Given the description of an element on the screen output the (x, y) to click on. 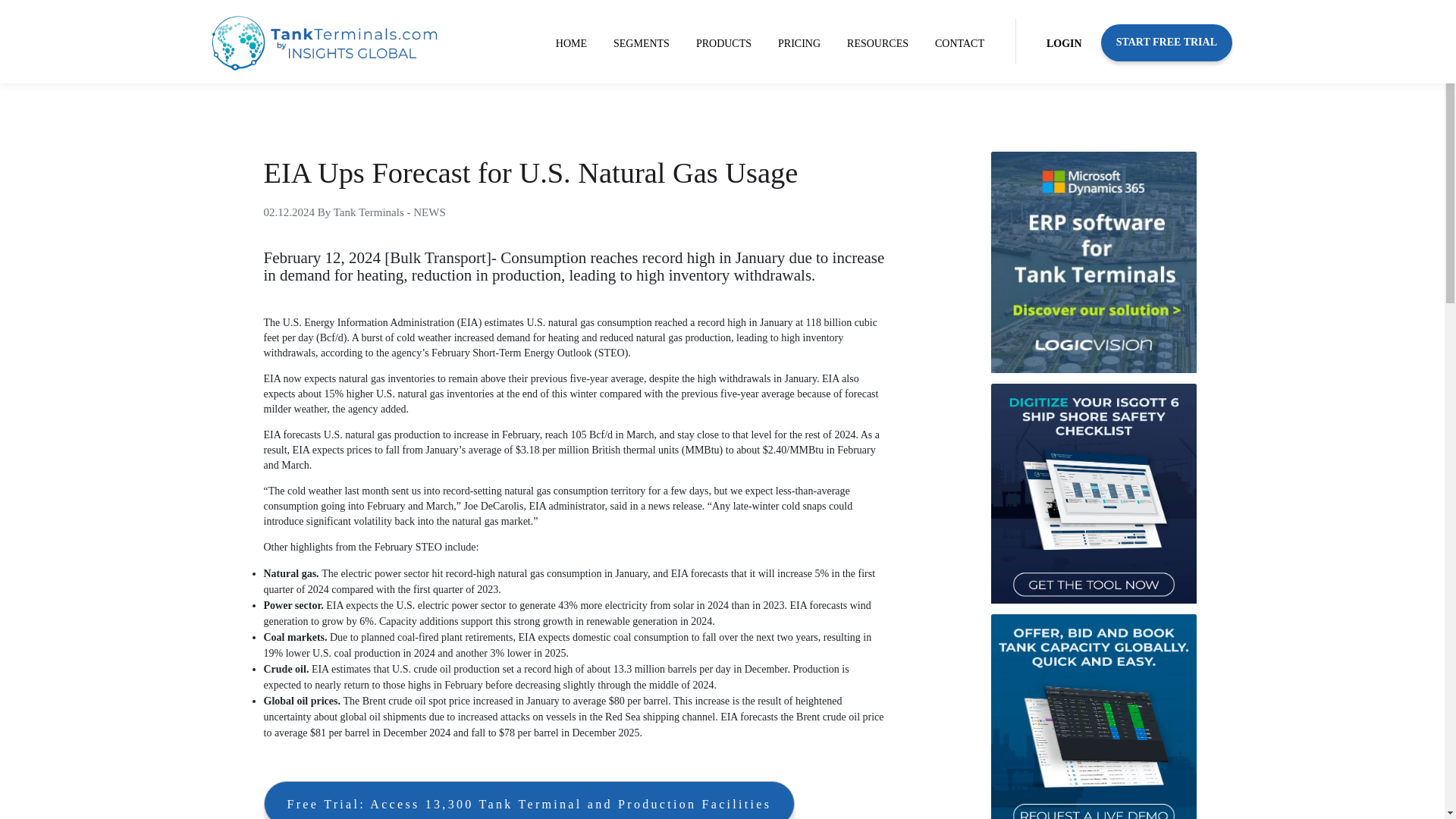
PRODUCTS (723, 43)
HOME (571, 43)
RESOURCES (877, 43)
CONTACT (959, 43)
START FREE TRIAL (1165, 42)
SEGMENTS (641, 43)
PRICING (799, 43)
LOGIN (1064, 43)
